Given the description of an element on the screen output the (x, y) to click on. 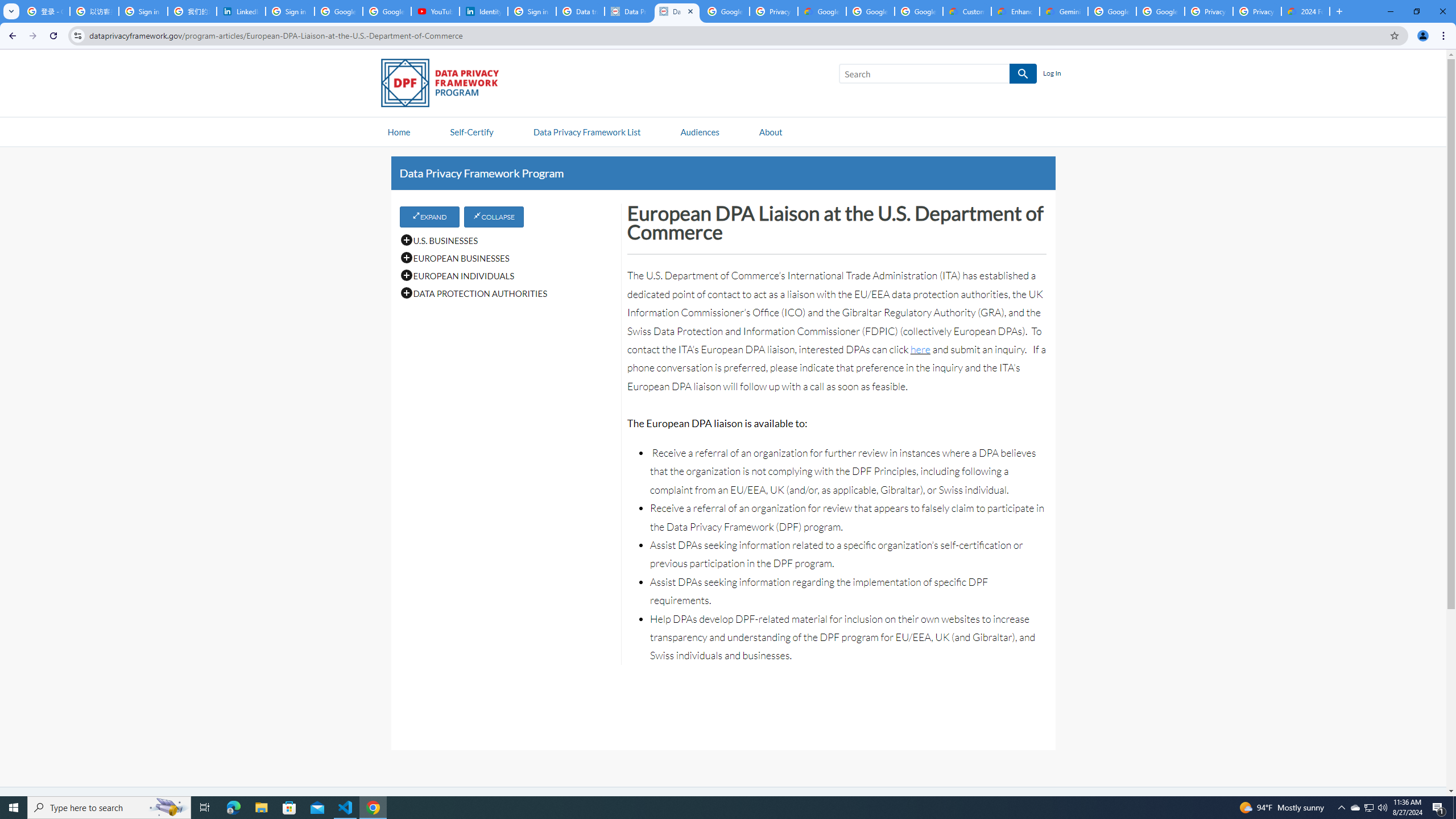
Data Privacy Framework (628, 11)
Audiences (699, 131)
here (920, 349)
LinkedIn Privacy Policy (240, 11)
Customer Care | Google Cloud (966, 11)
